Given the description of an element on the screen output the (x, y) to click on. 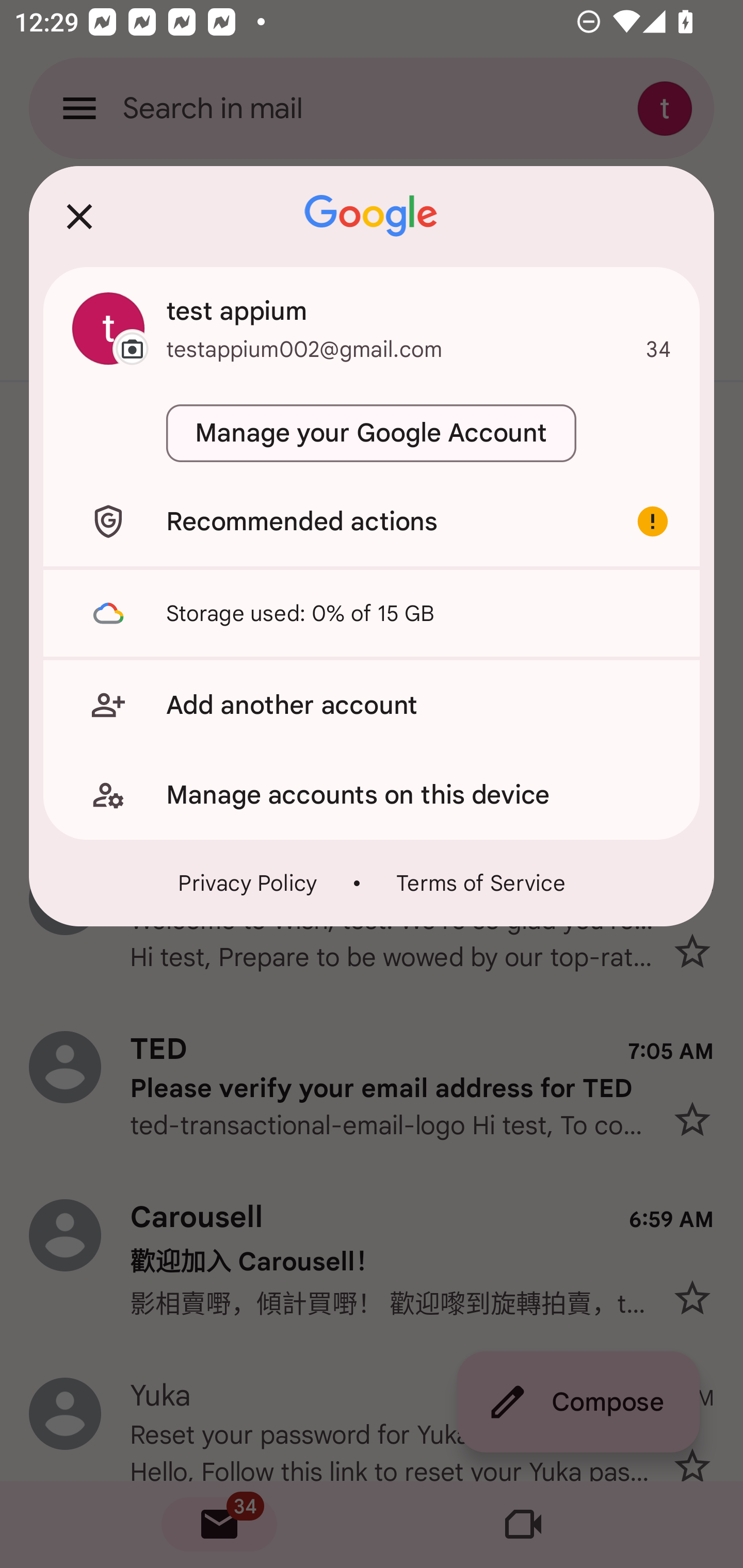
Close (79, 216)
Change profile picture. (108, 328)
Manage your Google Account (371, 433)
Recommended actions Important account alert (371, 521)
Storage used: 0% of 15 GB (371, 612)
Add another account (371, 704)
Manage accounts on this device (371, 794)
Privacy Policy (247, 883)
Terms of Service (479, 883)
